Given the description of an element on the screen output the (x, y) to click on. 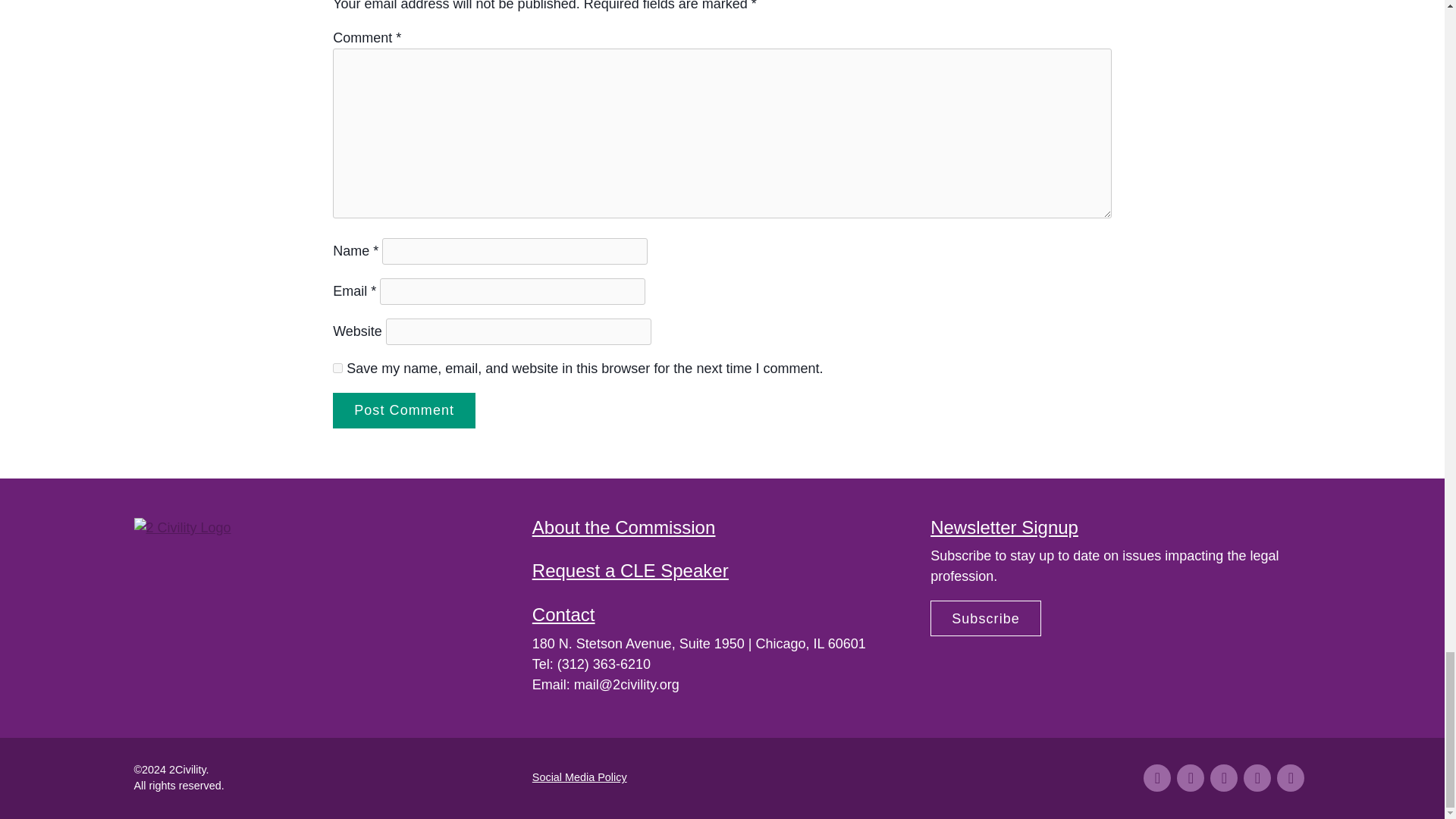
yes (337, 368)
Visit 2Civility on  (1257, 777)
Visit 2Civility on  (1223, 777)
Visit 2Civility on  (1290, 777)
Visit 2Civility on  (1156, 777)
Visit 2Civility on  (1190, 777)
Post Comment (404, 410)
Post Comment (404, 410)
